Given the description of an element on the screen output the (x, y) to click on. 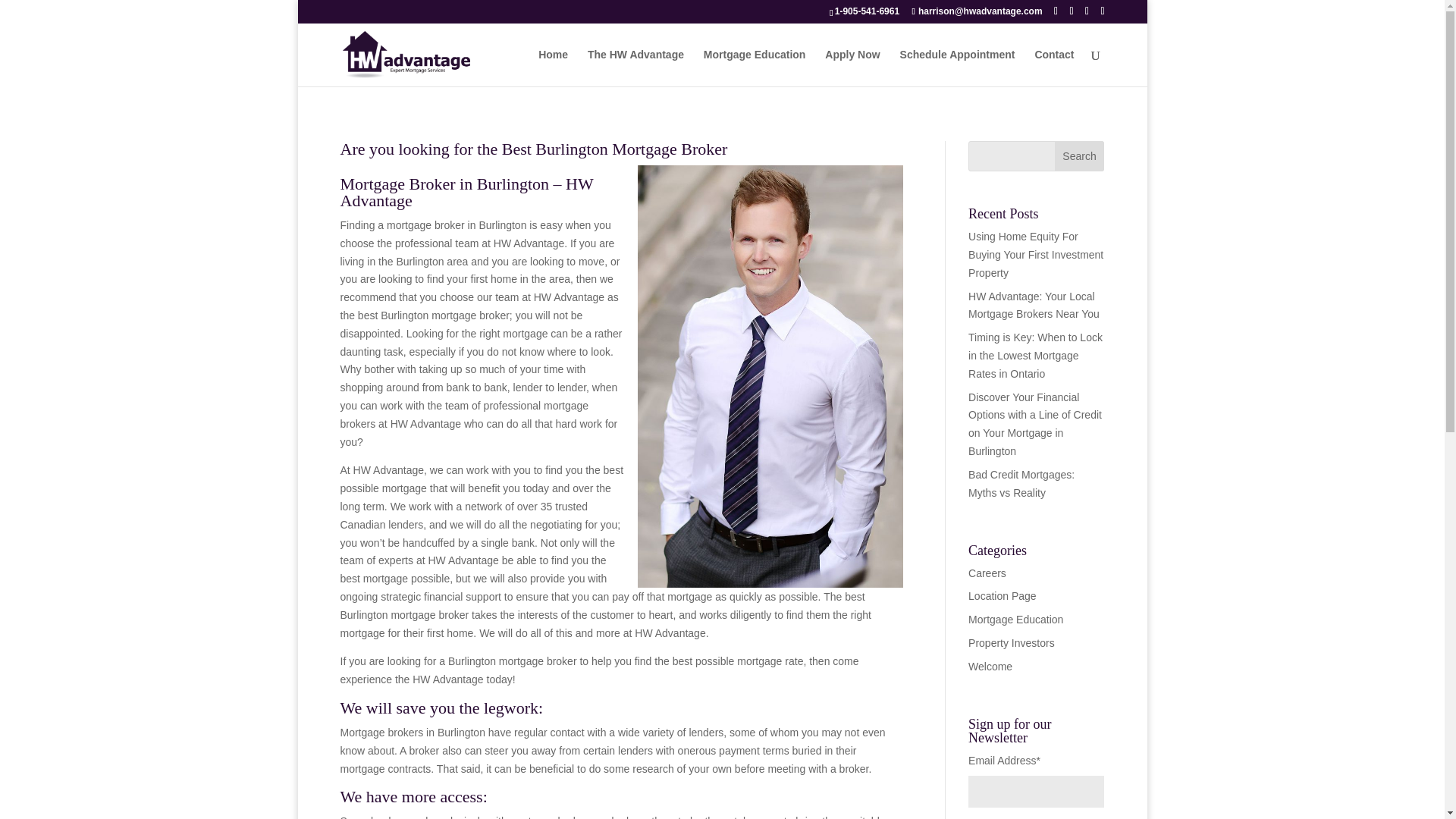
Mortgage Education (754, 67)
Using Home Equity For Buying Your First Investment Property (1035, 254)
1-905-541-6961 (866, 10)
The HW Advantage (636, 67)
Careers (987, 573)
Location Page (1002, 595)
Property Investors (1011, 643)
Bad Credit Mortgages: Myths vs Reality (1021, 483)
Mortgage Education (1015, 619)
HW Advantage: Your Local Mortgage Brokers Near You (1033, 305)
Schedule Appointment (956, 67)
Search (1079, 155)
Contact (1053, 67)
Search (1079, 155)
